Given the description of an element on the screen output the (x, y) to click on. 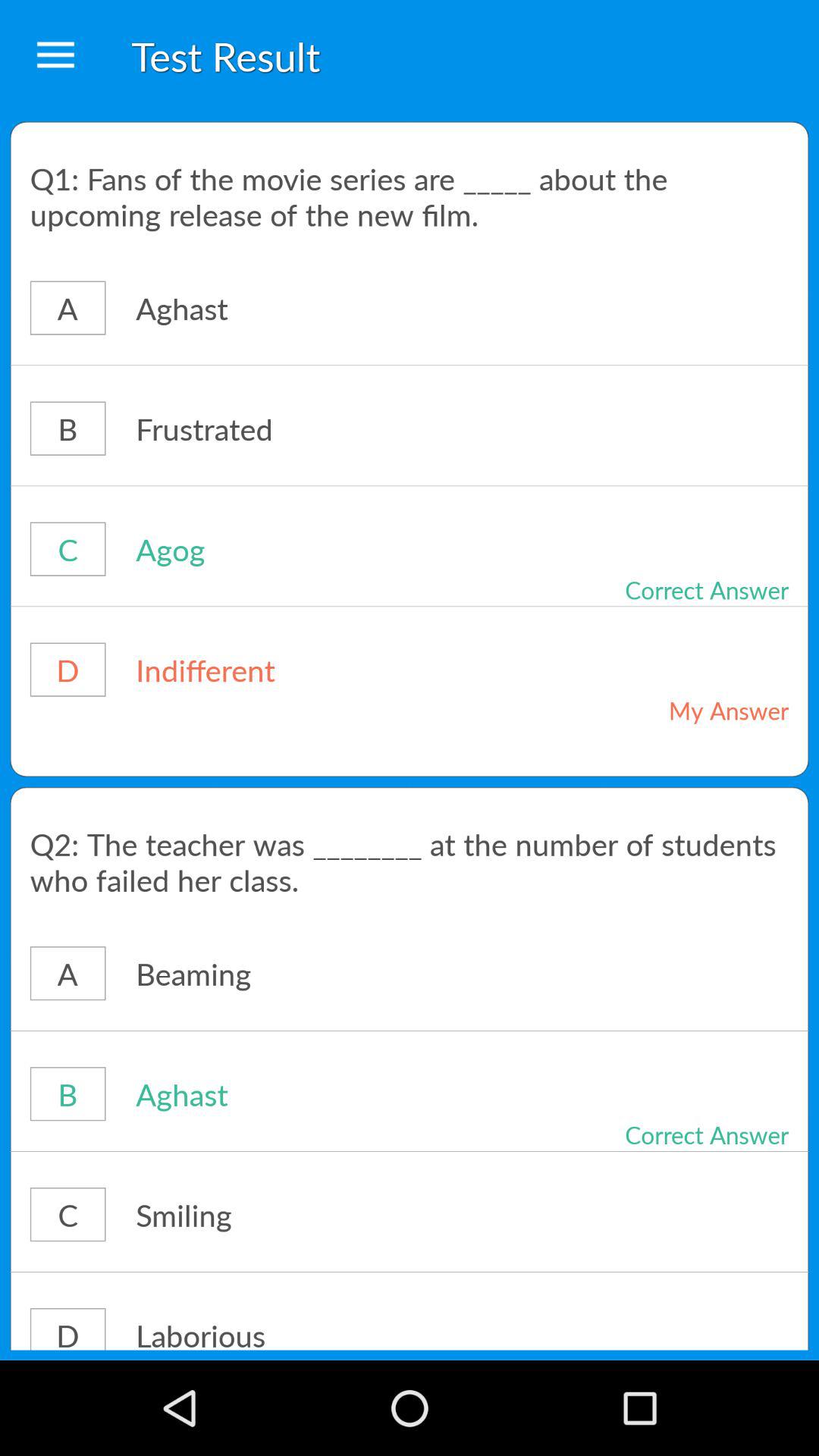
open the item to the right of d item (313, 1332)
